Given the description of an element on the screen output the (x, y) to click on. 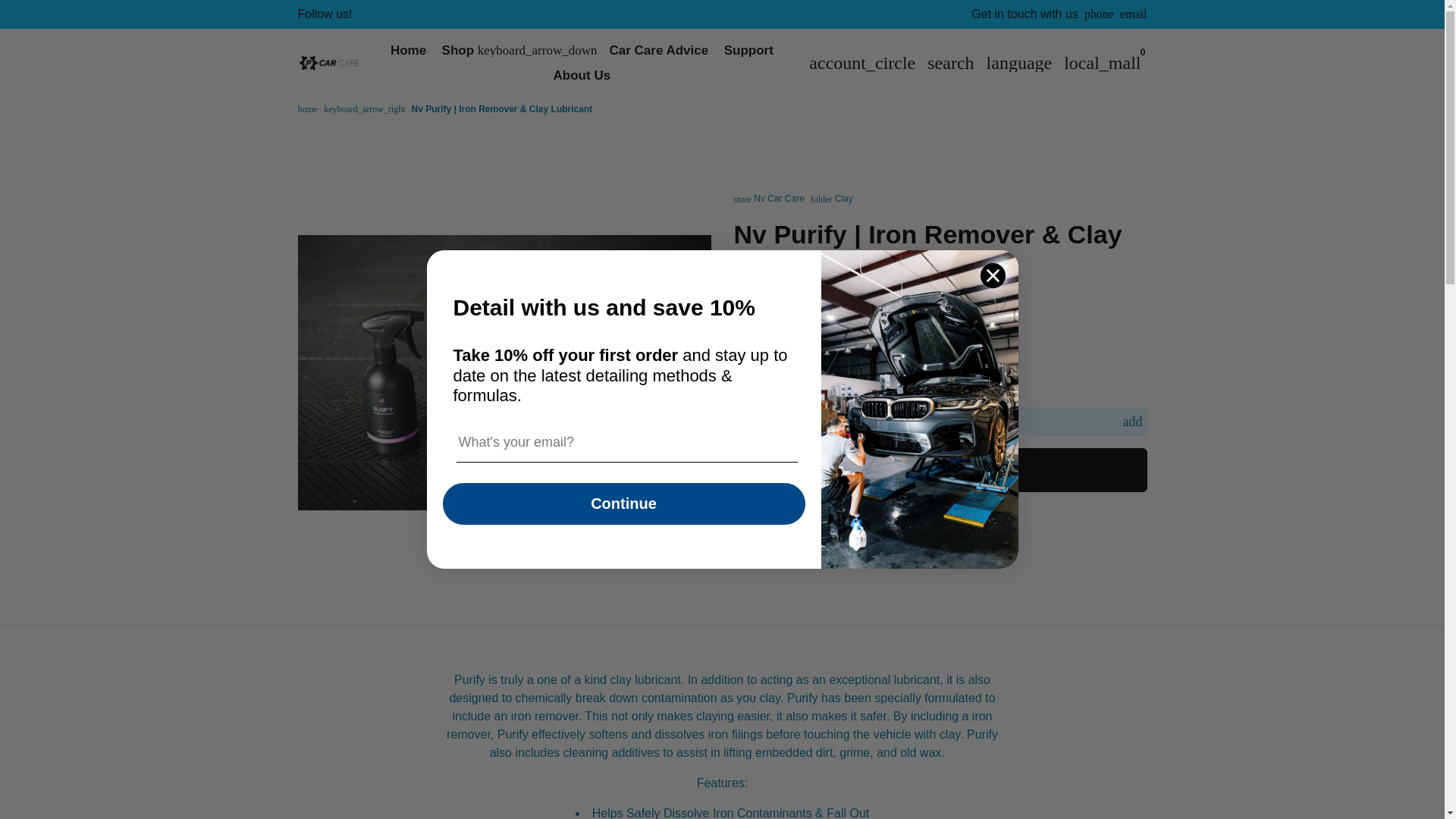
1 (940, 421)
Log In (862, 62)
